Given the description of an element on the screen output the (x, y) to click on. 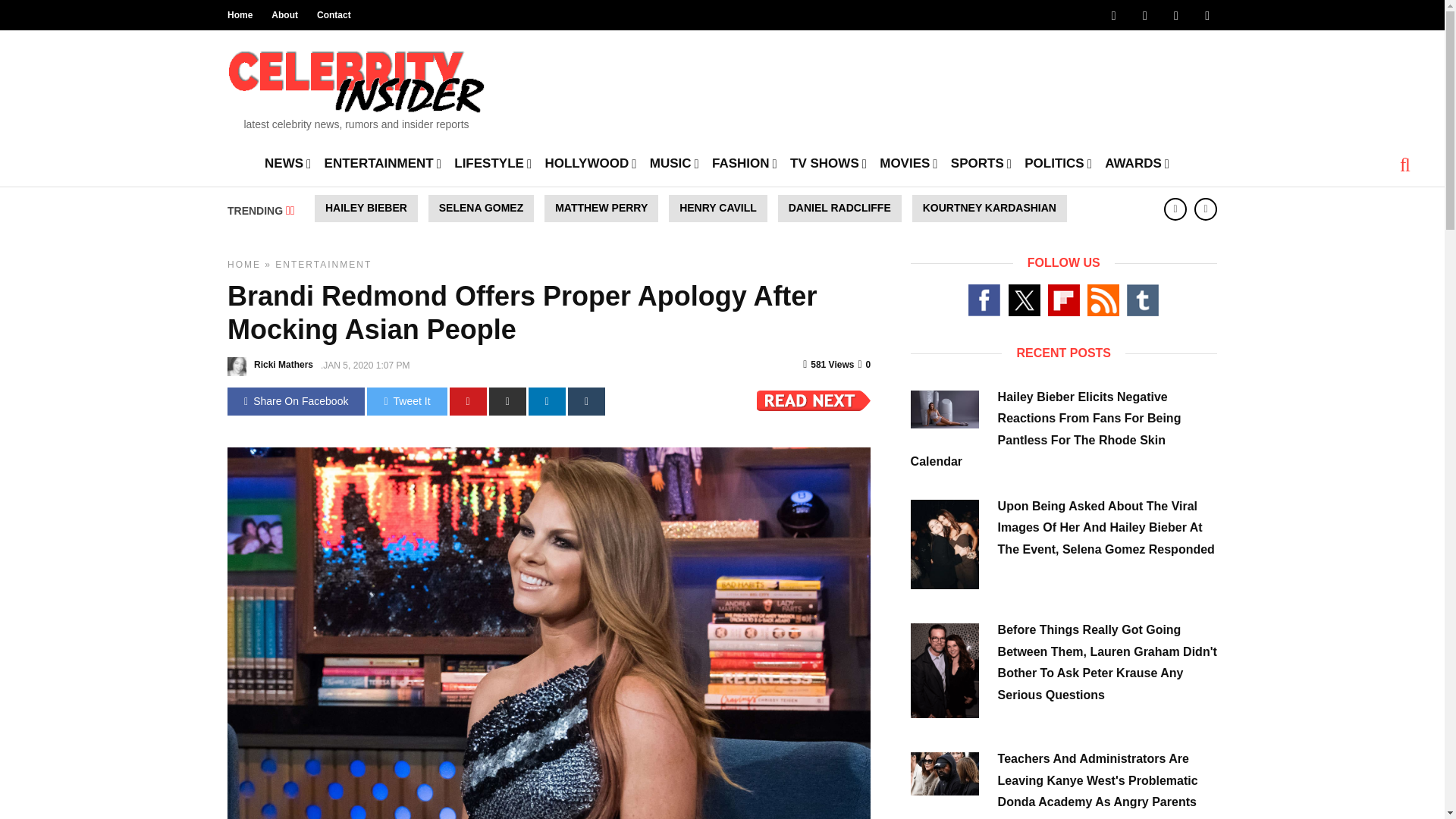
About (284, 14)
latest celebrity news, rumors and insider reports (355, 84)
ENTERTAINMENT (382, 162)
Contact (333, 14)
Home (239, 14)
NEWS (287, 162)
